Given the description of an element on the screen output the (x, y) to click on. 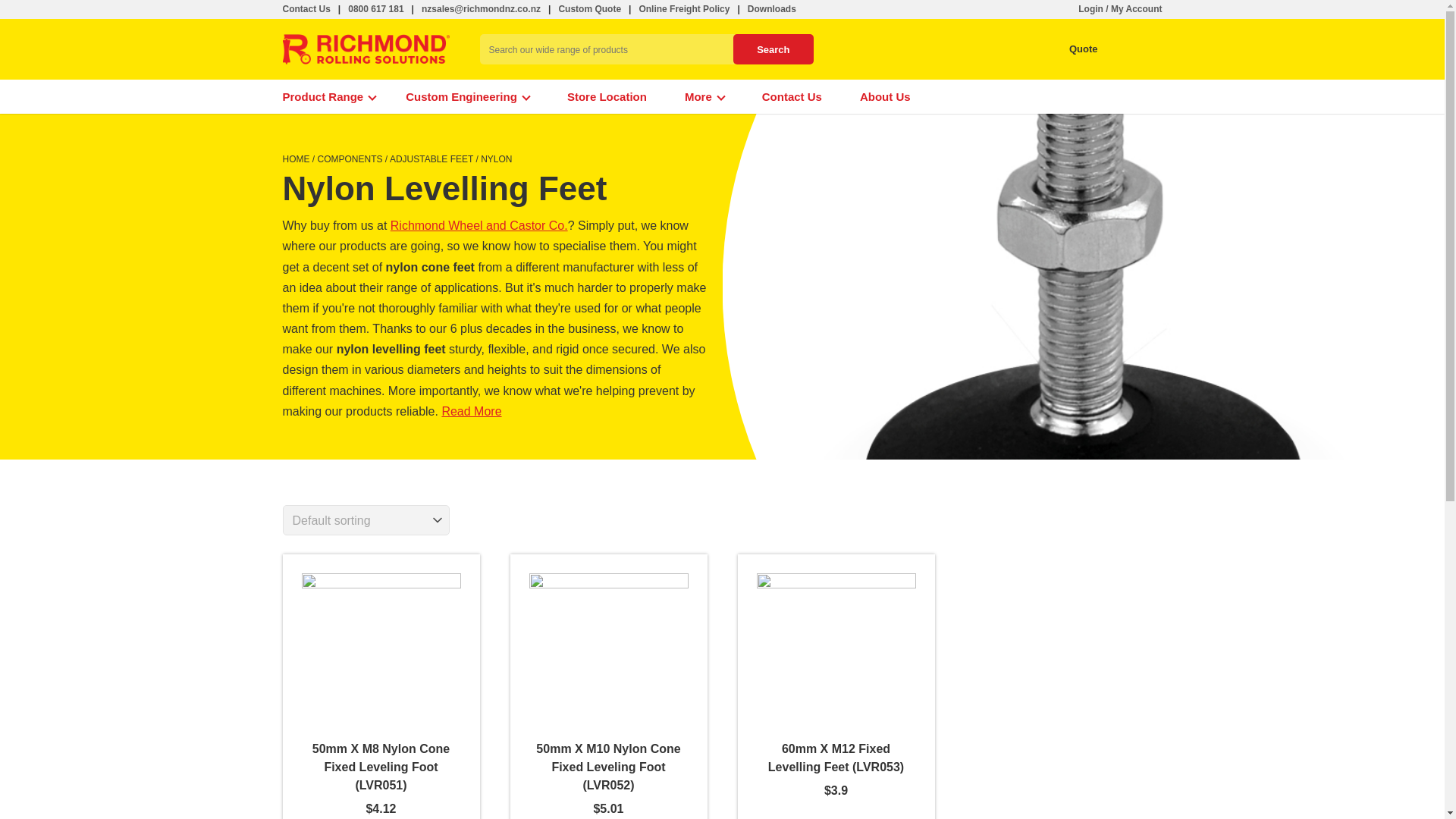
Contact Us (306, 9)
Online Freight Policy (684, 9)
Custom Quote (589, 9)
Downloads (772, 9)
Product Range (328, 96)
Search (772, 49)
0800 617 181 (375, 9)
Quote (1069, 48)
